Given the description of an element on the screen output the (x, y) to click on. 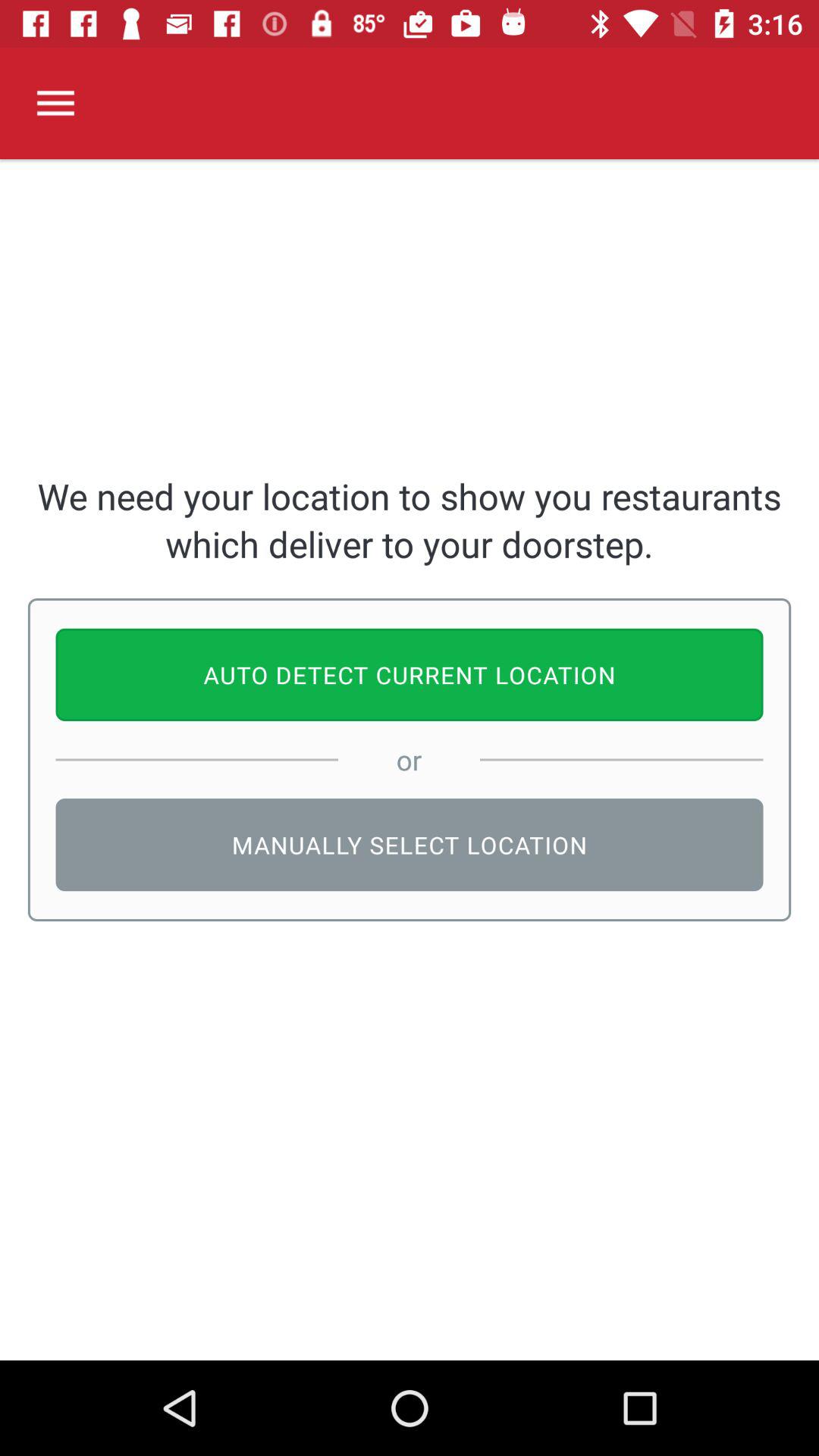
turn on the icon below we need your (409, 674)
